Given the description of an element on the screen output the (x, y) to click on. 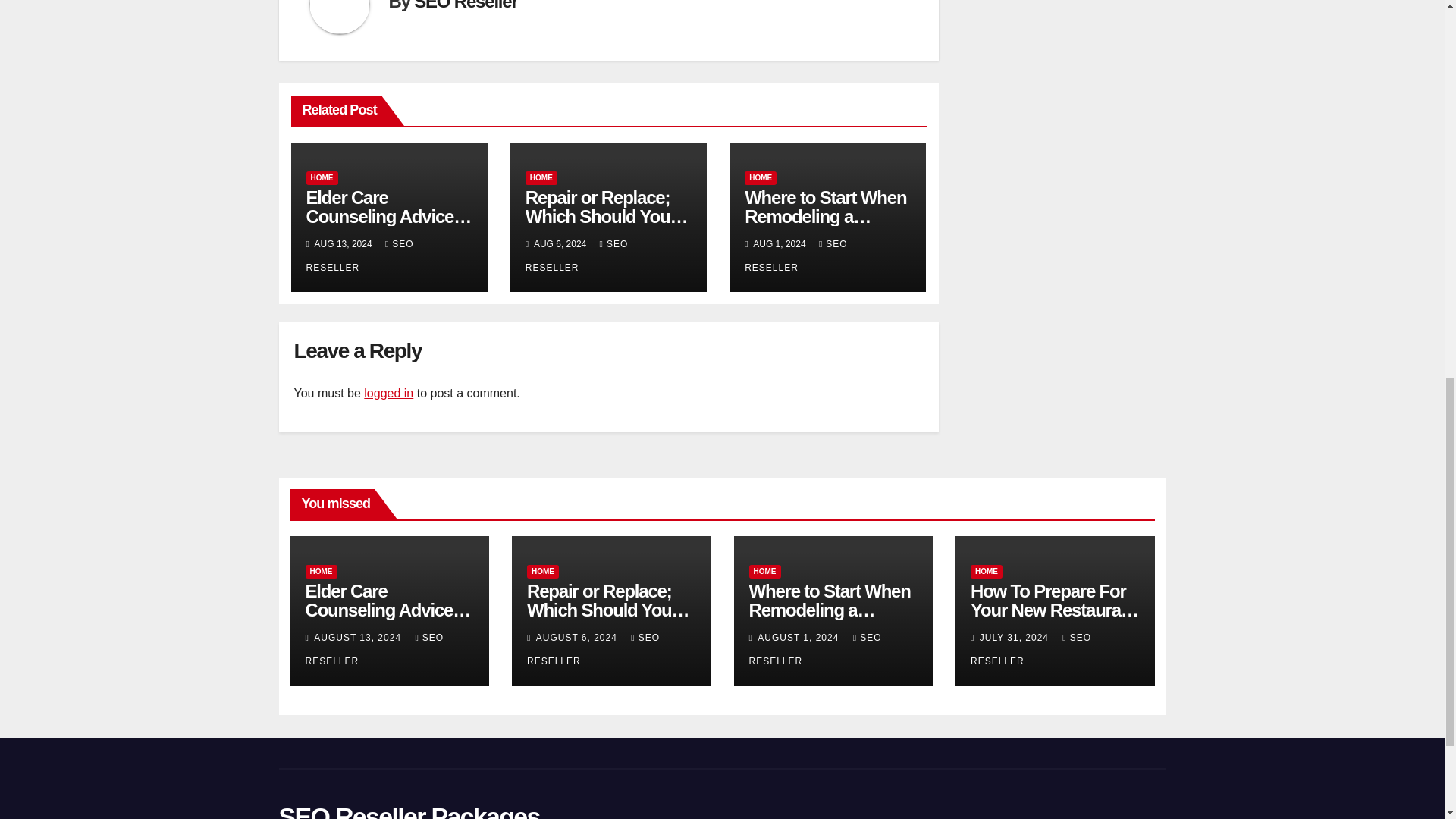
SEO Reseller (464, 5)
AUGUST 13, 2024 (359, 637)
HOME (541, 178)
HOME (760, 178)
logged in (388, 392)
SEO RESELLER (795, 255)
SEO RESELLER (359, 255)
HOME (320, 571)
HOME (321, 178)
SEO RESELLER (576, 255)
